Given the description of an element on the screen output the (x, y) to click on. 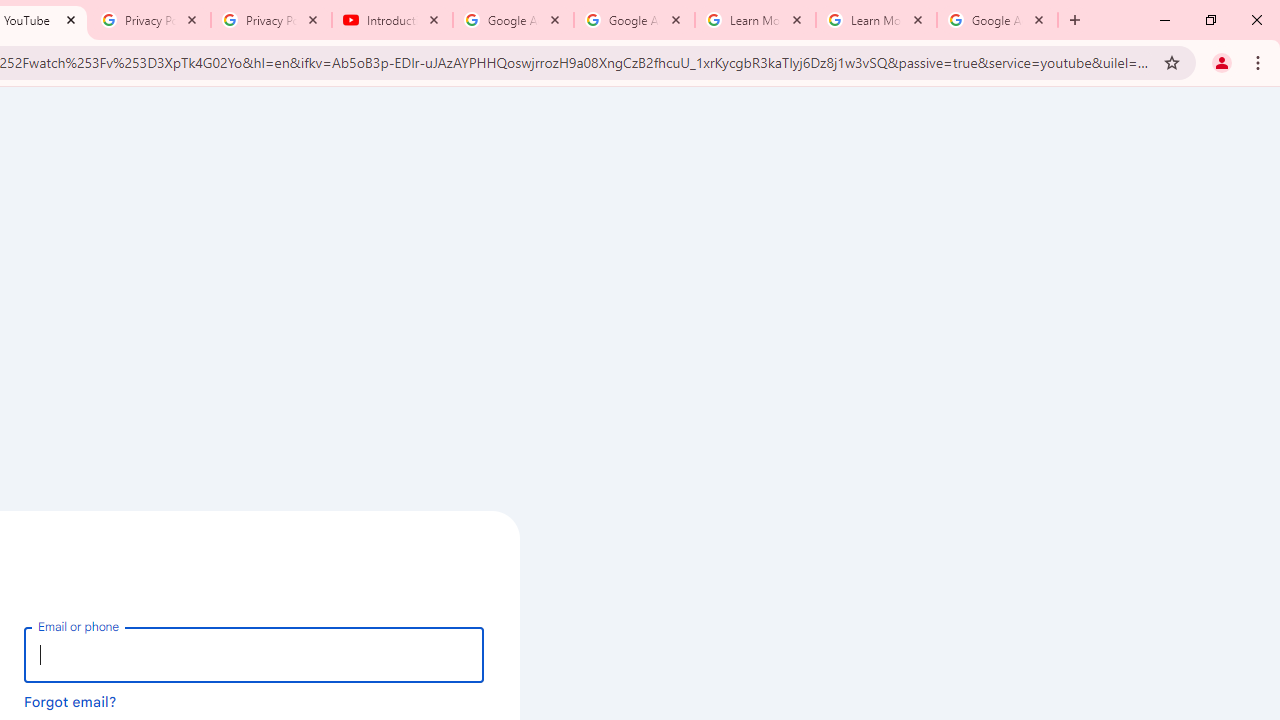
Google Account (997, 20)
